Given the description of an element on the screen output the (x, y) to click on. 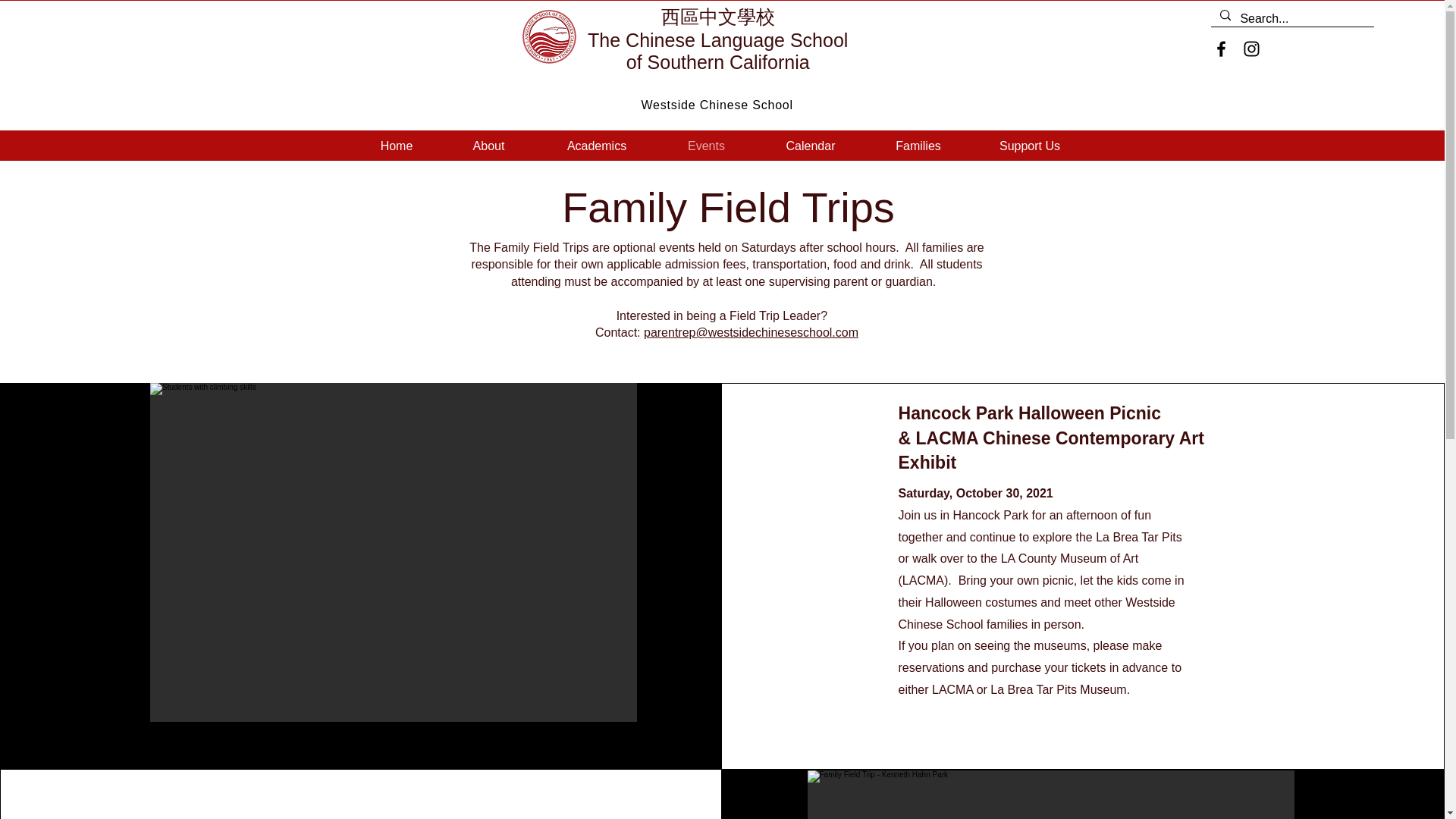
Calendar (810, 145)
Academics (597, 145)
Families (918, 145)
Home (396, 145)
Events (706, 145)
Westside Chinese School (717, 104)
The Chinese Language School of Southern California (717, 62)
About (488, 145)
